Given the description of an element on the screen output the (x, y) to click on. 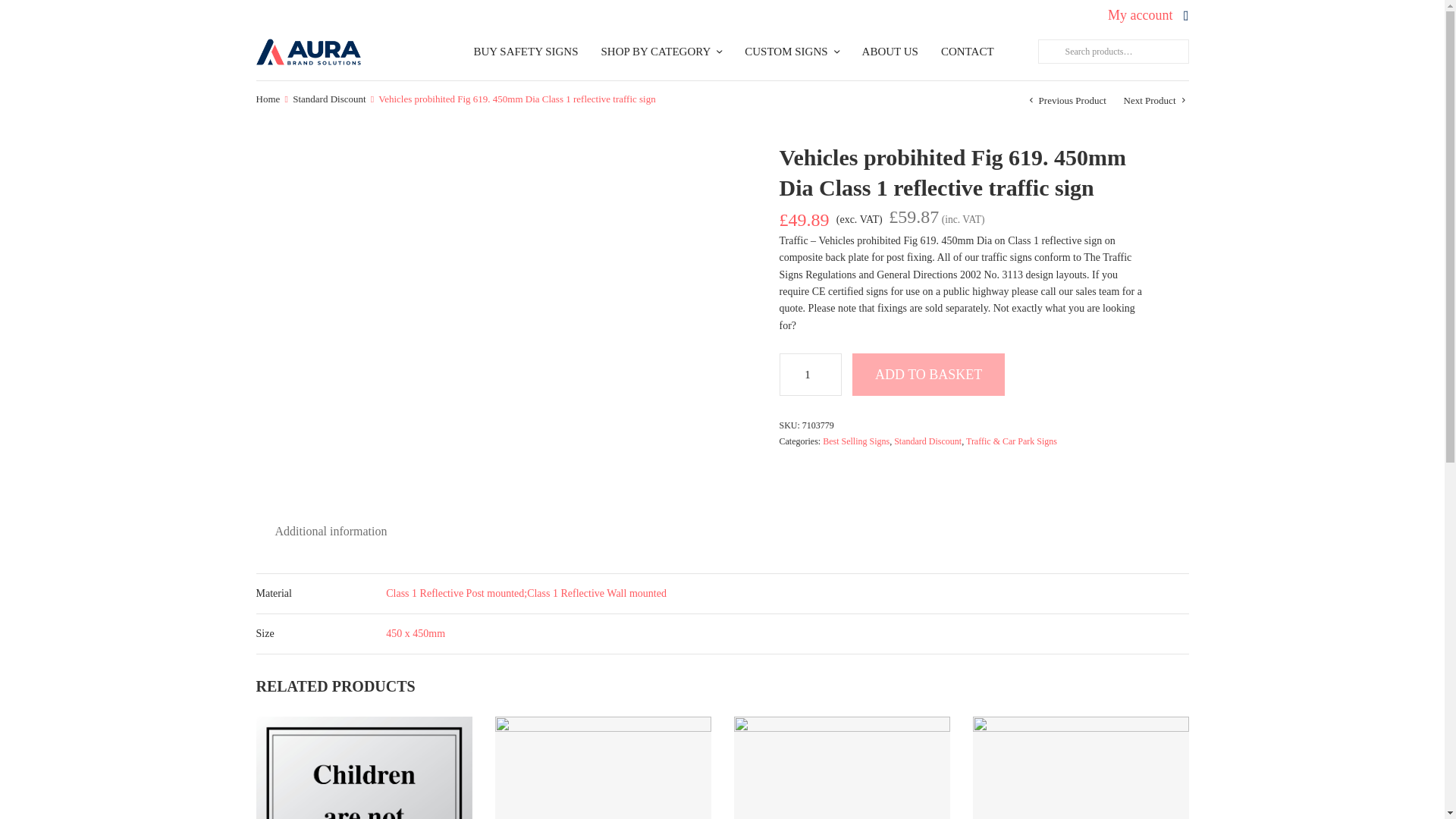
ABOUT US (889, 51)
Search (1047, 51)
SHOP BY CATEGORY (660, 51)
CONTACT (967, 51)
My account (1140, 14)
1 (810, 373)
My Account (1140, 14)
CUSTOM SIGNS (791, 51)
Aura Sign Shop (308, 51)
BUY SAFETY SIGNS (525, 51)
